Given the description of an element on the screen output the (x, y) to click on. 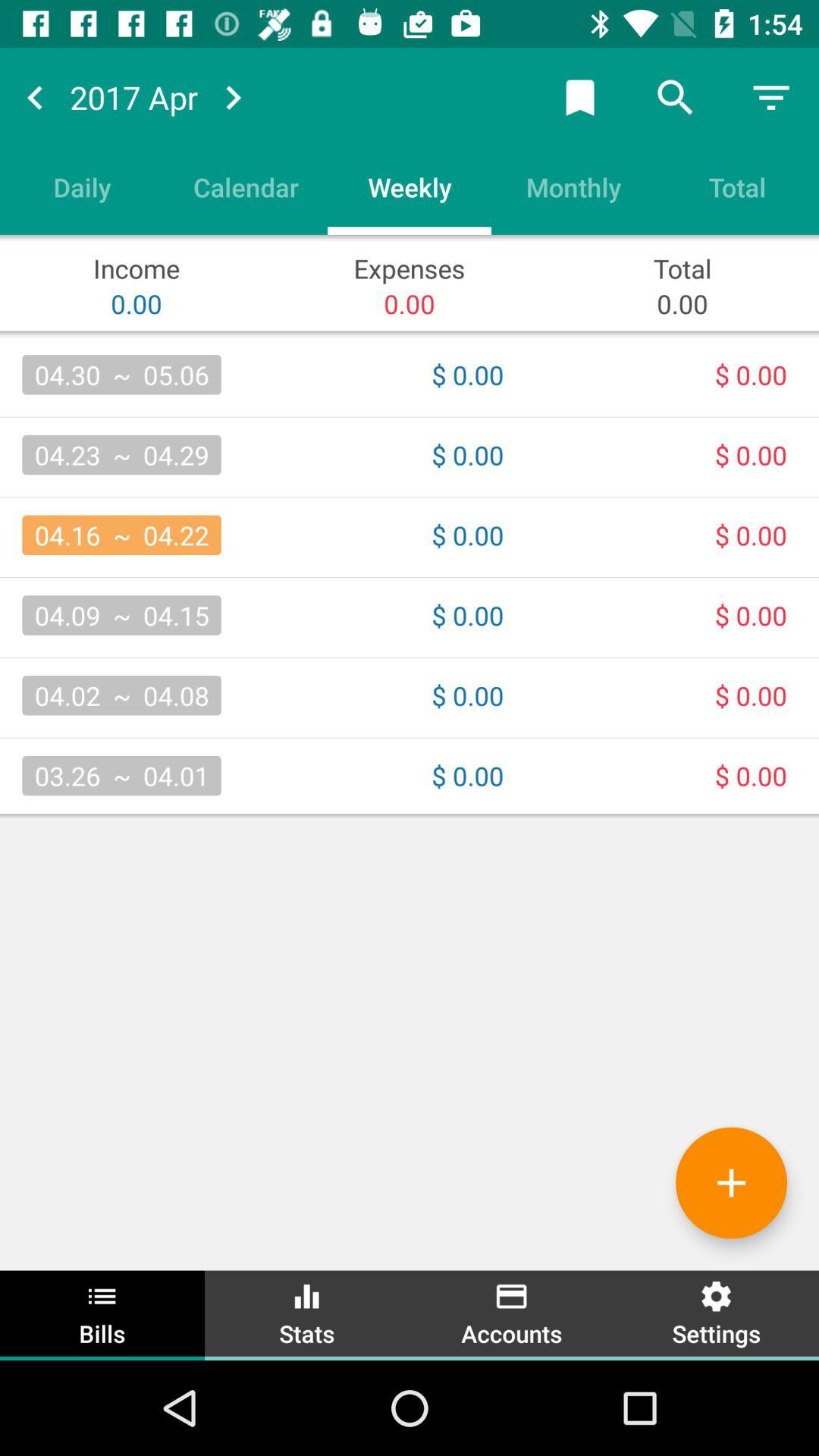
tap the item to the right of weekly (573, 186)
